Given the description of an element on the screen output the (x, y) to click on. 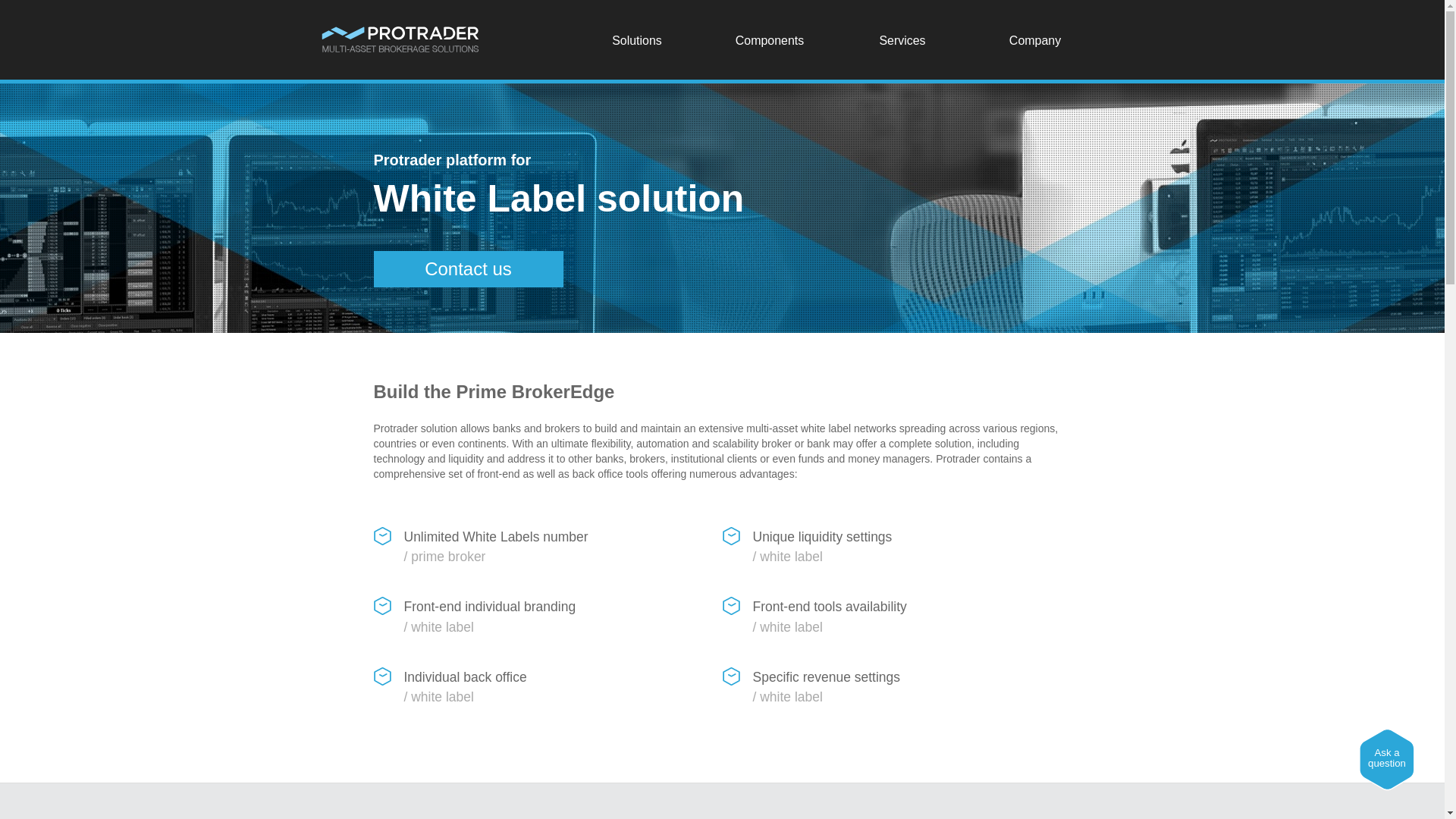
Contact us (467, 268)
